Given the description of an element on the screen output the (x, y) to click on. 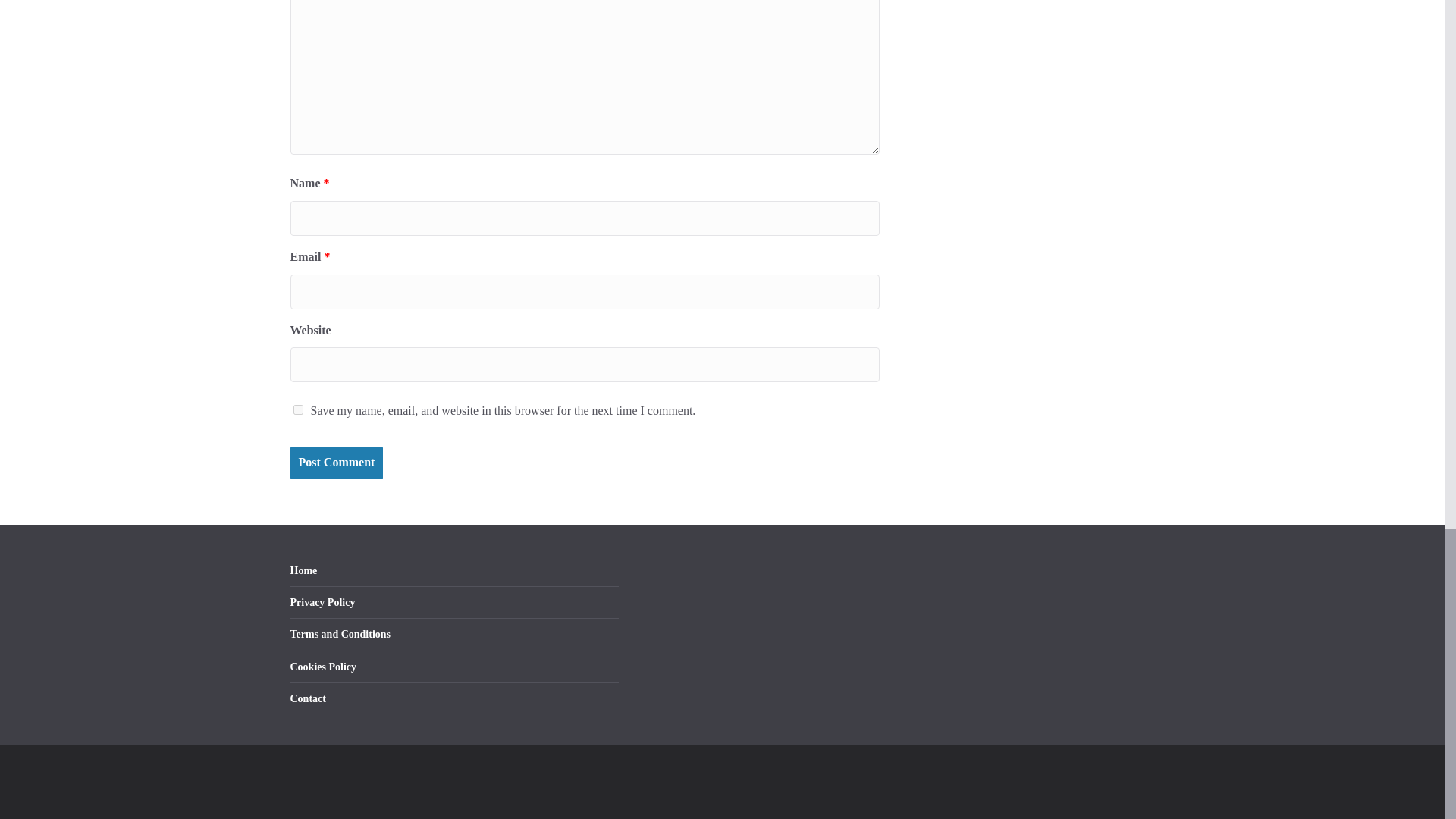
Post Comment (335, 462)
Post Comment (335, 462)
yes (297, 409)
